Given the description of an element on the screen output the (x, y) to click on. 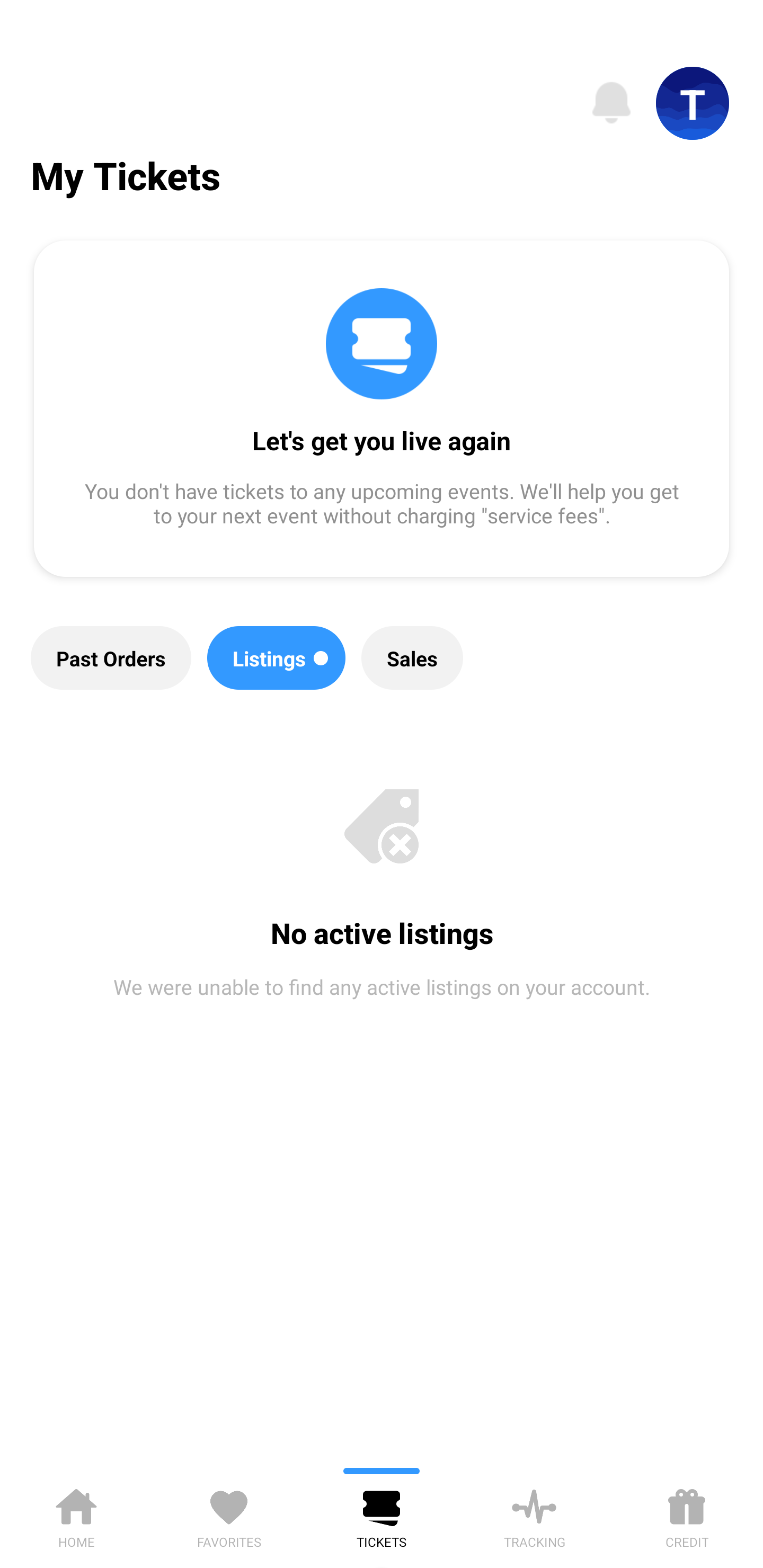
T (692, 103)
Past Orders (110, 657)
Listings (276, 657)
Sales (412, 657)
HOME (76, 1515)
FAVORITES (228, 1515)
TICKETS (381, 1515)
TRACKING (533, 1515)
CREDIT (686, 1515)
